Given the description of an element on the screen output the (x, y) to click on. 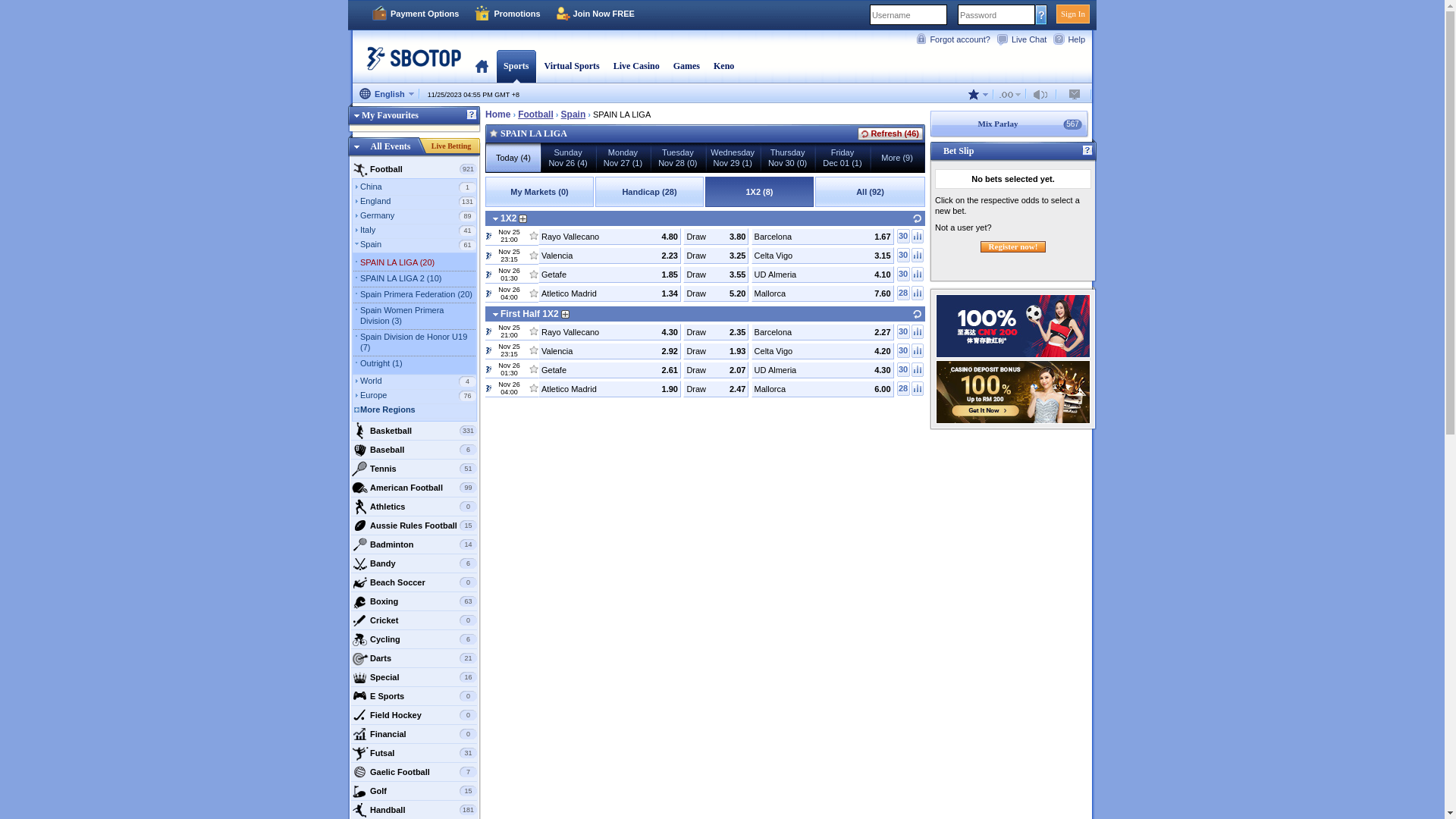
3.80
Draw Element type: text (715, 236)
Keno Element type: text (723, 65)
Forgot your password? Element type: hover (1041, 14)
30 Element type: text (903, 349)
2.23
Valencia Element type: text (609, 255)
Unavailable option Element type: hover (1010, 94)
England
131 Element type: text (418, 202)
View statistics Element type: hover (917, 292)
Upcoming live Element type: hover (487, 235)
1.67
Barcelona Element type: text (822, 236)
4.30
Rayo Vallecano Element type: text (609, 331)
Spain
61 Element type: text (418, 245)
Mix Parlay
567 Element type: text (1012, 123)
28 Element type: text (903, 292)
Athletics
0 Element type: text (413, 506)
Spain Division de Honor U19 (7) Element type: text (417, 343)
30 Element type: text (903, 369)
Spain Element type: text (573, 114)
1.90
Atletico Madrid Element type: text (609, 388)
View statistics Element type: hover (917, 387)
American Football
99 Element type: text (413, 487)
Bandy
6 Element type: text (413, 563)
Badminton
14 Element type: text (413, 544)
3.15
Celta Vigo Element type: text (822, 255)
Outright (1) Element type: text (417, 364)
Cricket
0 Element type: text (413, 620)
Darts
21 Element type: text (413, 658)
Upcoming live Element type: hover (487, 369)
Boxing
63 Element type: text (413, 601)
30 Element type: text (903, 254)
1.93
Draw Element type: text (715, 350)
China
1 Element type: text (418, 187)
Germany
89 Element type: text (418, 216)
5.20
Draw Element type: text (715, 293)
Tennis
51 Element type: text (413, 468)
4.20
Celta Vigo Element type: text (822, 350)
Register now! Element type: text (1013, 246)
2.92
Valencia Element type: text (609, 350)
4.10
UD Almeria Element type: text (822, 274)
Add to my favourites Element type: hover (533, 347)
Add to my favourites Element type: hover (533, 366)
2.07
Draw Element type: text (715, 368)
30 Element type: text (903, 273)
View statistics Element type: hover (917, 273)
Italy
41 Element type: text (418, 231)
Field Hockey
0 Element type: text (413, 715)
Spain Women Primera Division (3) Element type: text (417, 316)
English Element type: text (386, 94)
Add to my favourites Element type: hover (533, 270)
Europe
76 Element type: text (418, 396)
Unavailable option Element type: hover (1042, 94)
Home Element type: text (497, 113)
SBOTOP Sports | Online Sports Live Betting - Join Now! Element type: hover (409, 63)
+ Element type: text (513, 94)
SPAIN LA LIGA 2 (10) Element type: text (417, 279)
My Favourites Element type: text (383, 114)
6.00
Mallorca Element type: text (822, 388)
Basketball
331 Element type: text (413, 430)
View statistics Element type: hover (917, 236)
E Sports
0 Element type: text (413, 696)
30 Element type: text (903, 236)
7.60
Mallorca Element type: text (822, 293)
Add to my favourites Element type: hover (533, 385)
Add to my favourites Element type: hover (533, 328)
Upcoming live Element type: hover (487, 273)
Sunday
Nov 26 (4) Element type: text (567, 157)
3.55
Draw Element type: text (715, 274)
Special
16 Element type: text (413, 677)
All Events Element type: text (390, 146)
Live Casino Element type: text (636, 65)
30 Element type: text (903, 331)
View statistics Element type: hover (917, 349)
Tuesday
Nov 28 (0) Element type: text (677, 157)
Add to my markets Element type: hover (566, 313)
Handicap (28) Element type: text (649, 191)
My Markets (0) Element type: text (539, 191)
Help Element type: hover (1087, 150)
2.61
Getafe Element type: text (609, 368)
Financial
0 Element type: text (413, 733)
Monday
Nov 27 (1) Element type: text (622, 157)
Spain Primera Federation (20) Element type: text (417, 295)
All (92) Element type: text (870, 191)
Unavailable option Element type: hover (1075, 94)
Sign In
Payment Options
Promotions
Join Now FREE Element type: text (722, 15)
Home Element type: text (481, 65)
Join Now FREE Element type: text (594, 13)
1.85
Getafe Element type: text (609, 274)
Cycling
6 Element type: text (413, 639)
Add to my favourites Element type: hover (533, 232)
View statistics Element type: hover (917, 369)
Live Betting Element type: text (450, 146)
SPAIN LA LIGA (20) Element type: text (417, 263)
Beach Soccer
0 Element type: text (413, 582)
View statistics Element type: hover (917, 254)
Payment Options Element type: text (414, 13)
Upcoming live Element type: hover (487, 331)
View statistics Element type: hover (917, 331)
Upcoming live Element type: hover (487, 255)
Promotions Element type: text (506, 13)
Wednesday
Nov 29 (1) Element type: text (732, 157)
Today (4) Element type: text (513, 157)
4.30
UD Almeria Element type: text (822, 368)
Football
921 Element type: text (413, 169)
Football Element type: text (535, 114)
4.80
Rayo Vallecano Element type: text (609, 236)
Upcoming live Element type: hover (487, 388)
Golf
15 Element type: text (413, 790)
World
4 Element type: text (418, 382)
Sports Element type: text (515, 65)
Help Element type: hover (471, 114)
Friday
Dec 01 (1) Element type: text (842, 157)
2.27
Barcelona Element type: text (822, 331)
Mix Parlay
567 Element type: text (1008, 123)
Live Casino Element type: text (636, 65)
Add to my markets Element type: hover (524, 218)
Upcoming live Element type: hover (487, 293)
28 Element type: text (903, 387)
Add to my favourites Element type: hover (533, 252)
More Regions Element type: text (418, 410)
3.25
Draw Element type: text (715, 255)
Help Element type: text (1071, 39)
1X2 (8) Element type: text (759, 191)
Virtual Sports Element type: text (571, 65)
Aussie Rules Football
15 Element type: text (413, 525)
Add to my favourites Element type: hover (493, 130)
Thursday
Nov 30 (0) Element type: text (786, 157)
Gaelic Football
7 Element type: text (413, 771)
More (9) Element type: text (896, 157)
Games Element type: text (686, 65)
2.47
Draw Element type: text (715, 388)
Futsal
31 Element type: text (413, 752)
Live Chat Element type: text (1024, 39)
Upcoming live Element type: hover (487, 350)
2.35
Draw Element type: text (715, 331)
Sign In Element type: text (1072, 13)
My Favourites Element type: text (414, 117)
Baseball
6 Element type: text (413, 449)
Add to my favourites Element type: hover (533, 290)
1.34
Atletico Madrid Element type: text (609, 293)
